Given the description of an element on the screen output the (x, y) to click on. 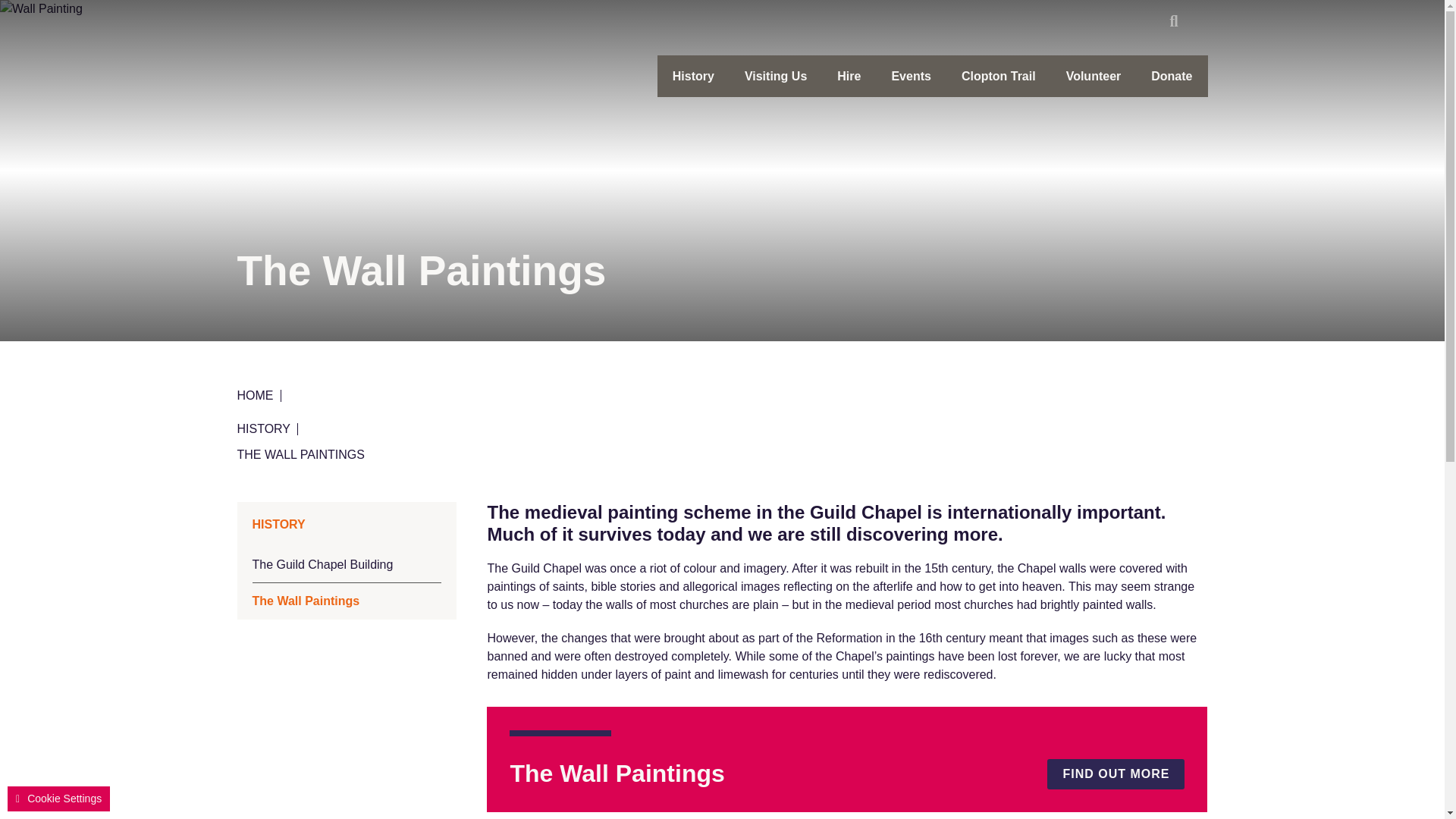
HISTORY (266, 428)
Hire (849, 76)
Clopton Trail (998, 76)
Home (348, 65)
The Wall Paintings (346, 601)
FIND OUT MORE (1115, 773)
Volunteer (1094, 76)
Donate (1171, 76)
HISTORY (346, 524)
Visiting Us (775, 76)
The Guild Chapel Building (346, 565)
Cookie preference options (58, 798)
History (693, 76)
SEARCH HCT LEARNING HUB (1180, 20)
